Given the description of an element on the screen output the (x, y) to click on. 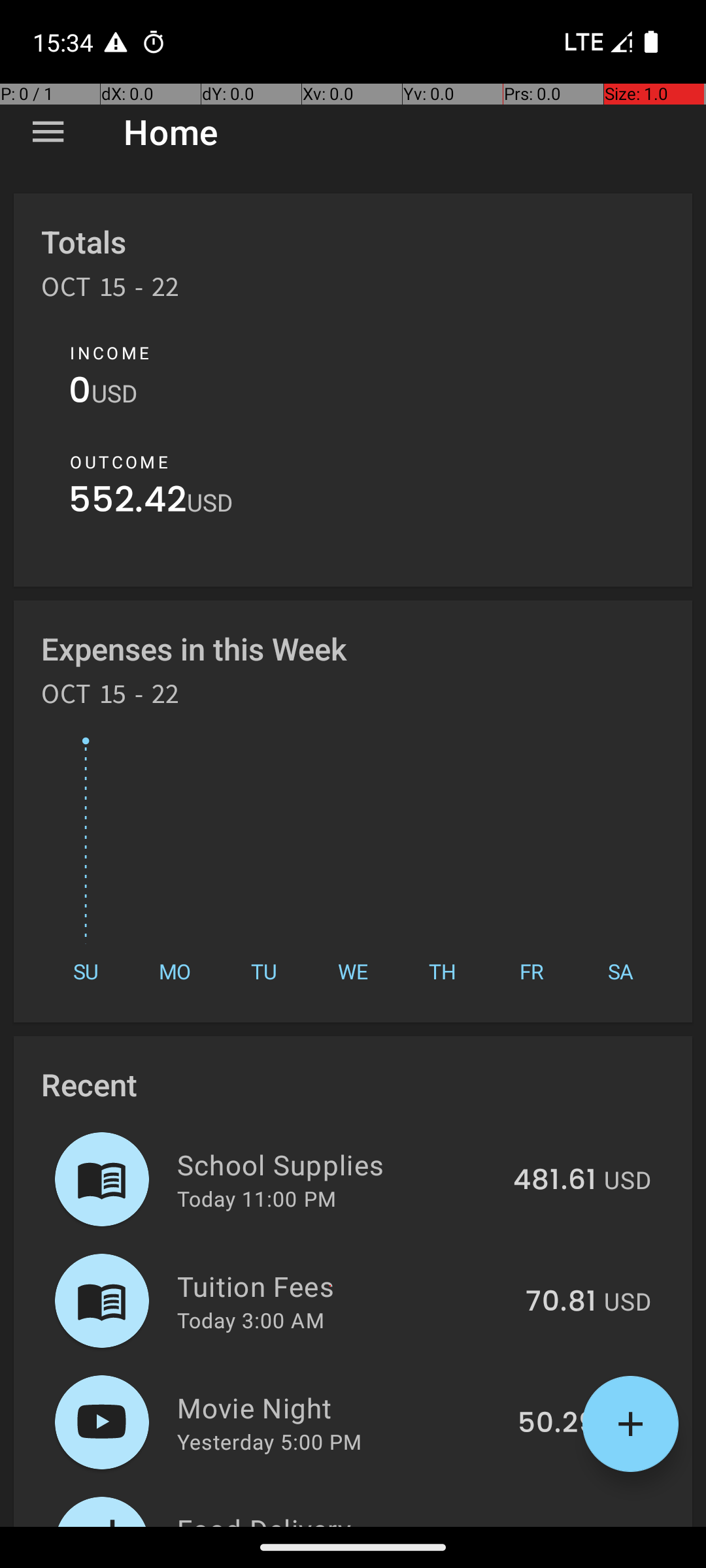
552.42 Element type: android.widget.TextView (127, 502)
School Supplies Element type: android.widget.TextView (337, 1164)
Today 11:00 PM Element type: android.widget.TextView (256, 1198)
481.61 Element type: android.widget.TextView (554, 1180)
Tuition Fees Element type: android.widget.TextView (343, 1285)
Today 3:00 AM Element type: android.widget.TextView (250, 1320)
70.81 Element type: android.widget.TextView (560, 1301)
Movie Night Element type: android.widget.TextView (339, 1407)
Yesterday 5:00 PM Element type: android.widget.TextView (269, 1441)
50.29 Element type: android.widget.TextView (556, 1423)
Food Delivery Element type: android.widget.TextView (331, 1518)
324.08 Element type: android.widget.TextView (548, 1524)
